Given the description of an element on the screen output the (x, y) to click on. 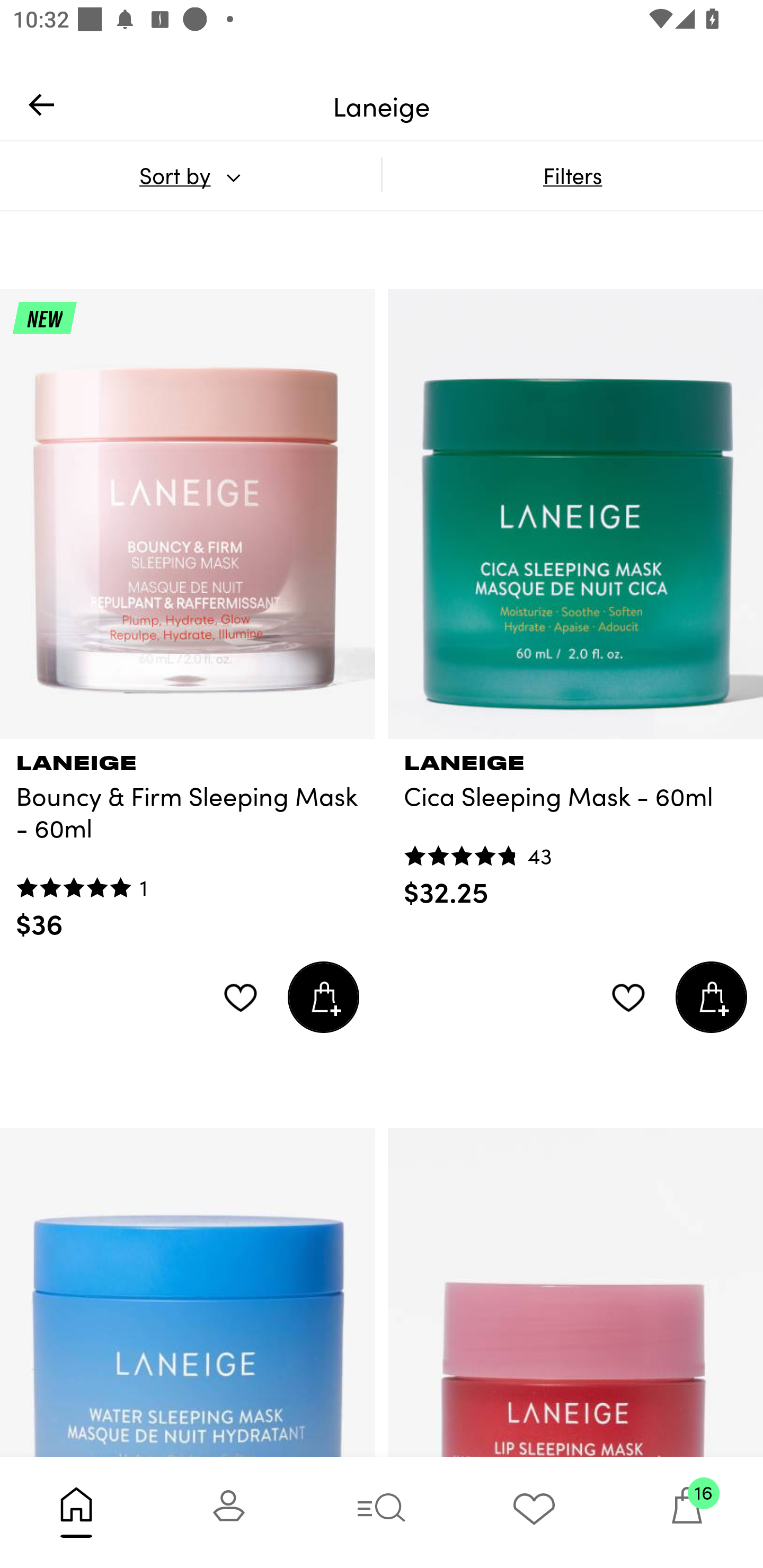
Sort by (190, 174)
Filters (572, 174)
LANEIGE Bouncy & Firm Sleeping Mask - 60ml 1 $36 (187, 840)
LANEIGE Cica Sleeping Mask - 60ml 43 $32.25 (575, 824)
16 (686, 1512)
